Given the description of an element on the screen output the (x, y) to click on. 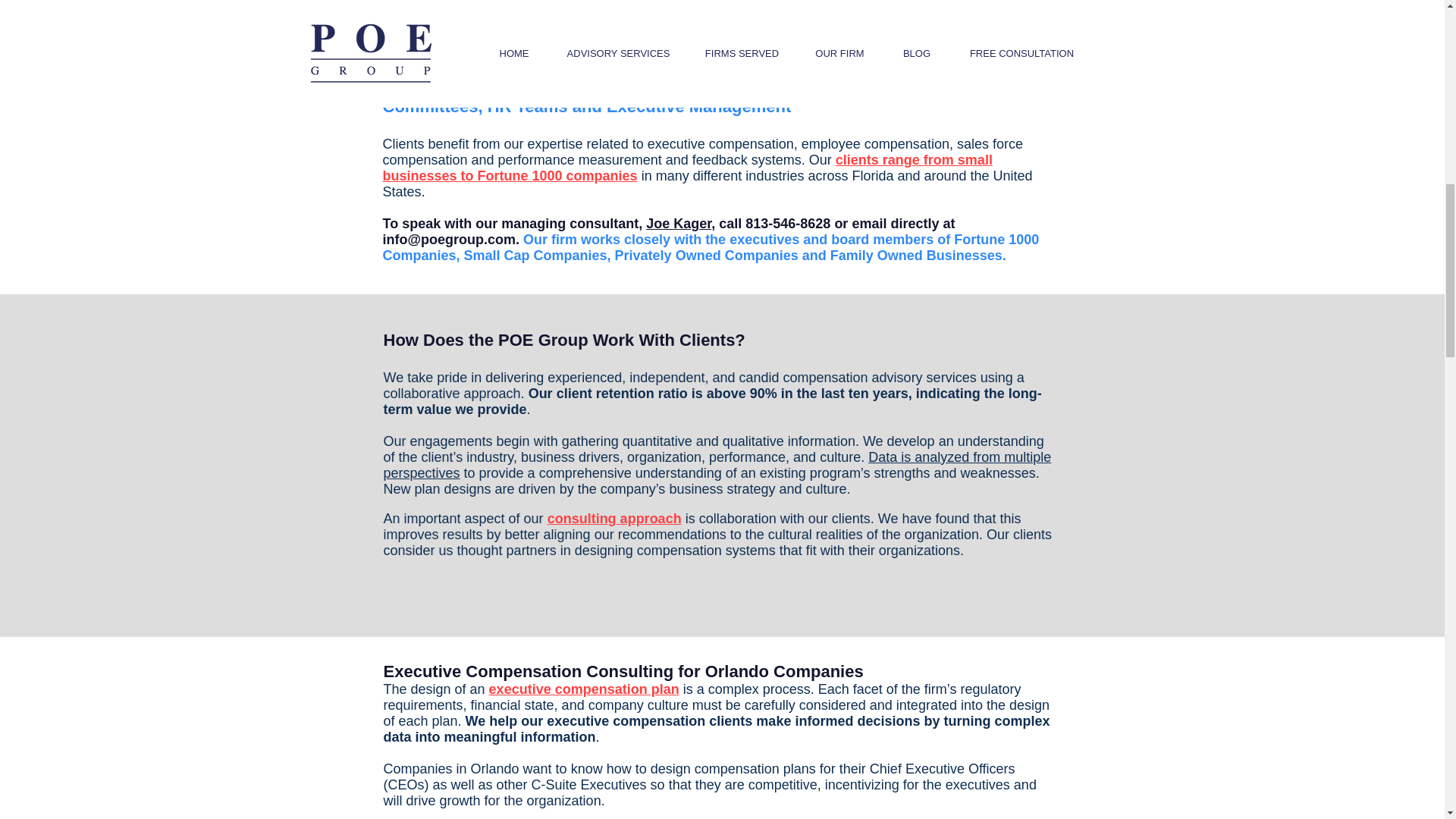
executive compensation plan (584, 688)
Joe Kager (678, 223)
candid compensation advisory services (856, 377)
consulting approach (614, 518)
